Given the description of an element on the screen output the (x, y) to click on. 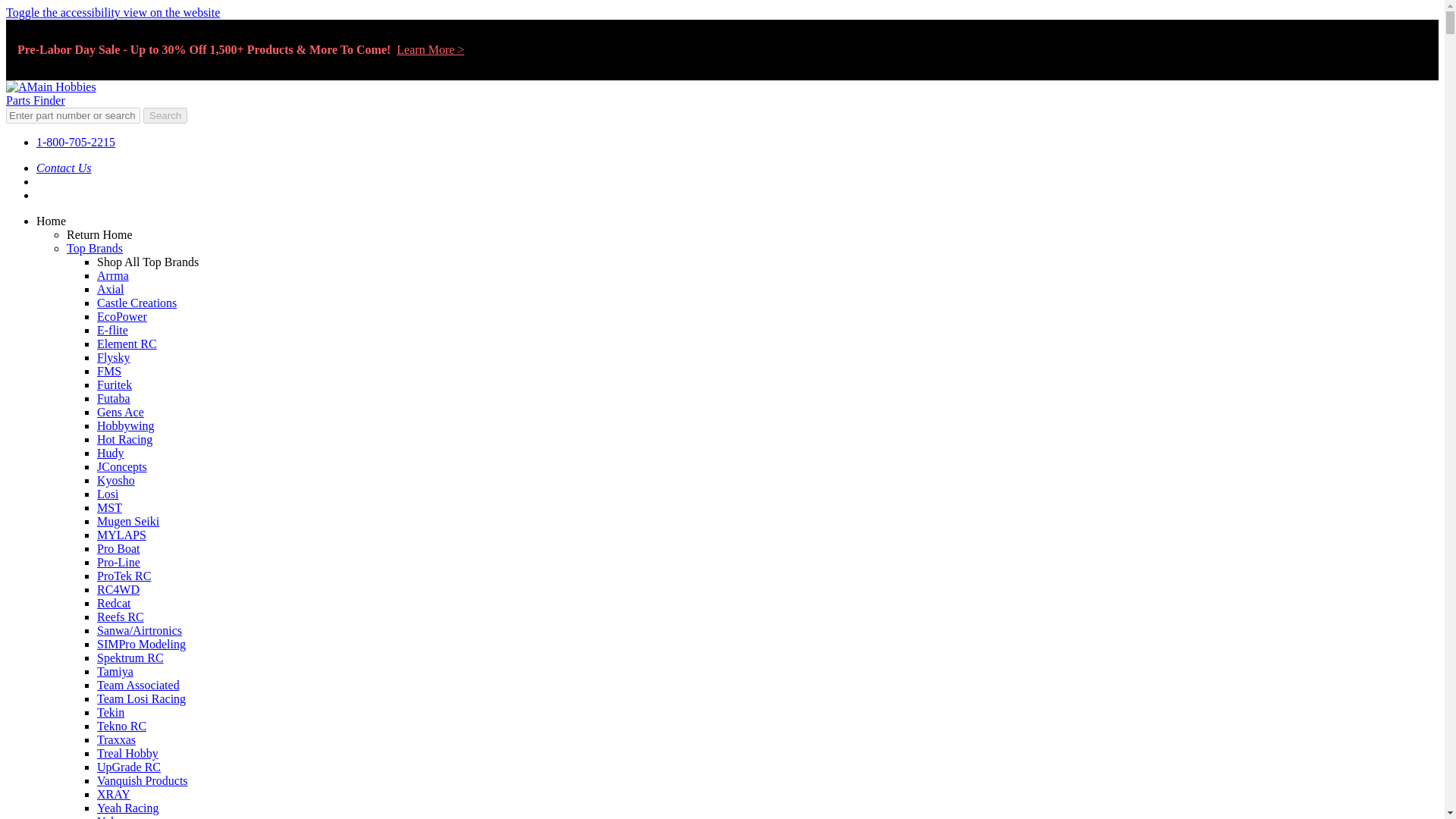
MYLAPS (122, 534)
SIMPro Modeling (141, 644)
Kyosho (116, 480)
Castle Creations (136, 302)
Parts Finder (35, 100)
Reefs RC (120, 616)
E-flite (112, 329)
FMS (108, 370)
Pro Boat (118, 548)
Flysky (114, 357)
